Given the description of an element on the screen output the (x, y) to click on. 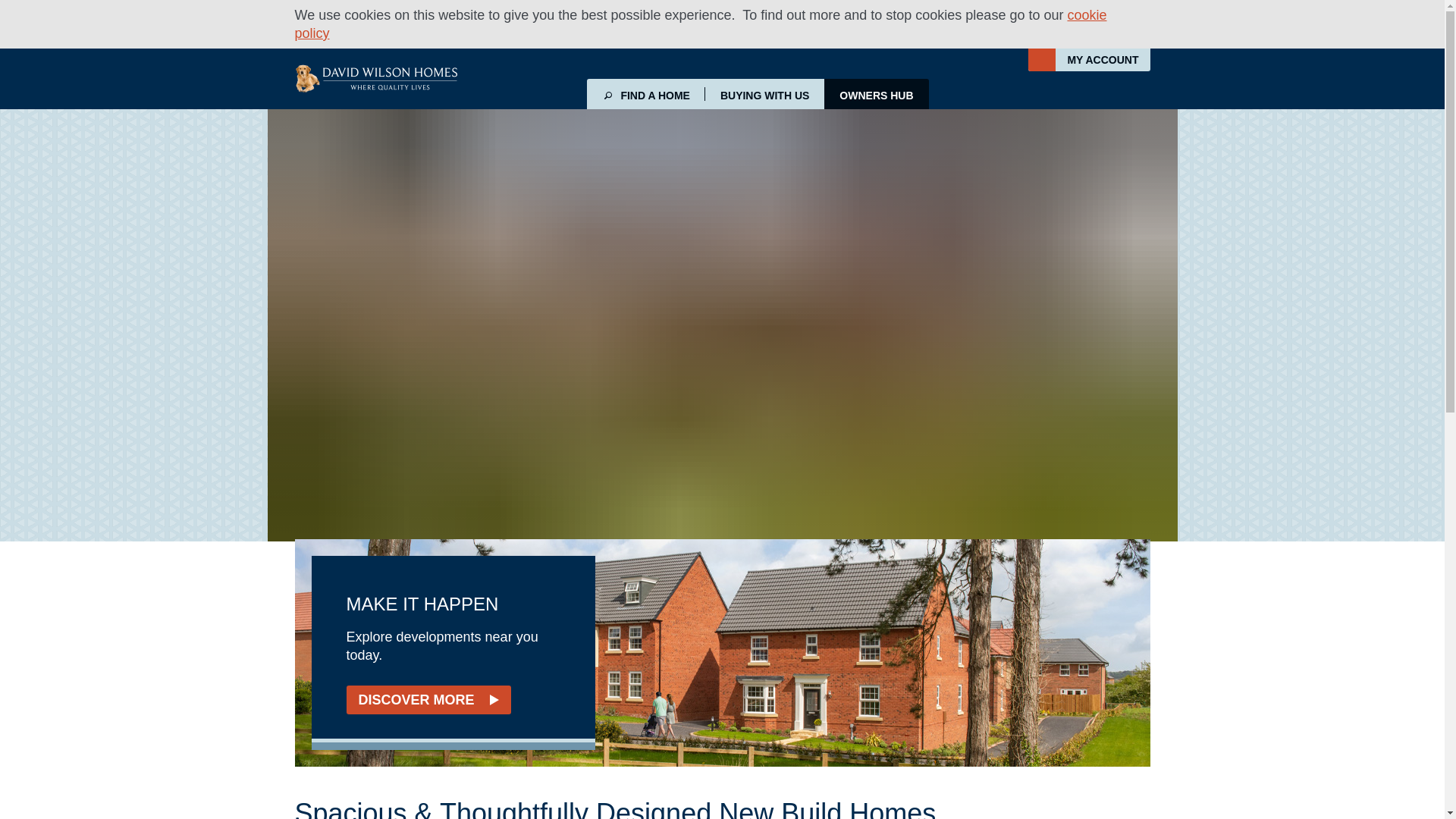
BUYING WITH US (764, 93)
cookie policy (700, 23)
FIND A HOME (645, 93)
